Given the description of an element on the screen output the (x, y) to click on. 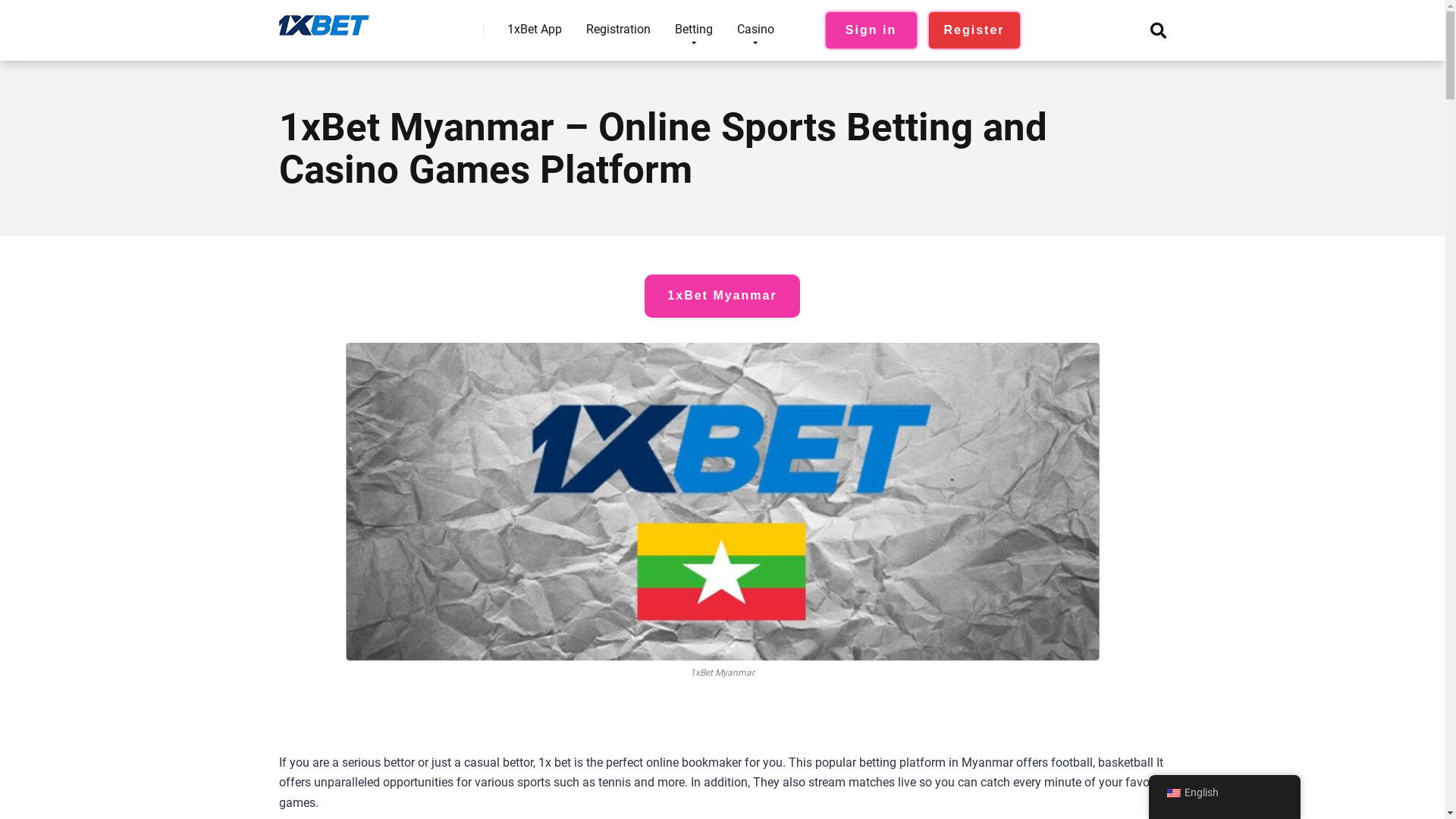
1xBet App Element type: text (533, 30)
Registration Element type: text (617, 30)
Register Element type: text (973, 30)
English Element type: text (1223, 792)
Sign in Element type: text (870, 30)
Betting Element type: text (693, 30)
1xbetmyanmar Element type: hover (324, 20)
1xBet Myanmar Element type: text (721, 295)
English Element type: hover (1172, 792)
Casino Element type: text (755, 30)
